Given the description of an element on the screen output the (x, y) to click on. 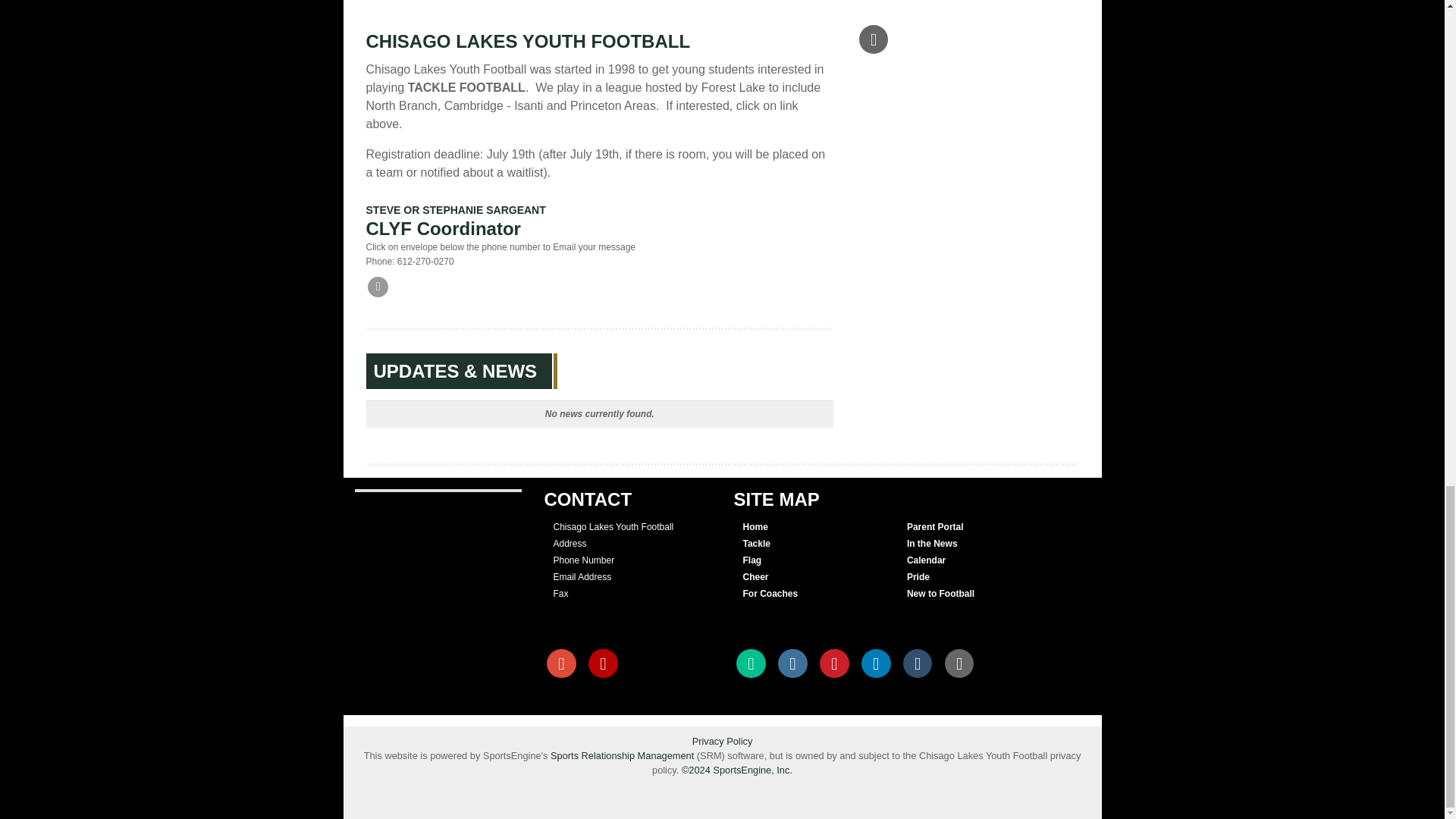
For Coaches (769, 593)
New to Football (940, 593)
Home (755, 526)
Vine (750, 663)
Pride (918, 576)
Pinterest (833, 663)
YouTube (602, 663)
In the News (932, 543)
Calendar (925, 560)
External Link (959, 663)
